Given the description of an element on the screen output the (x, y) to click on. 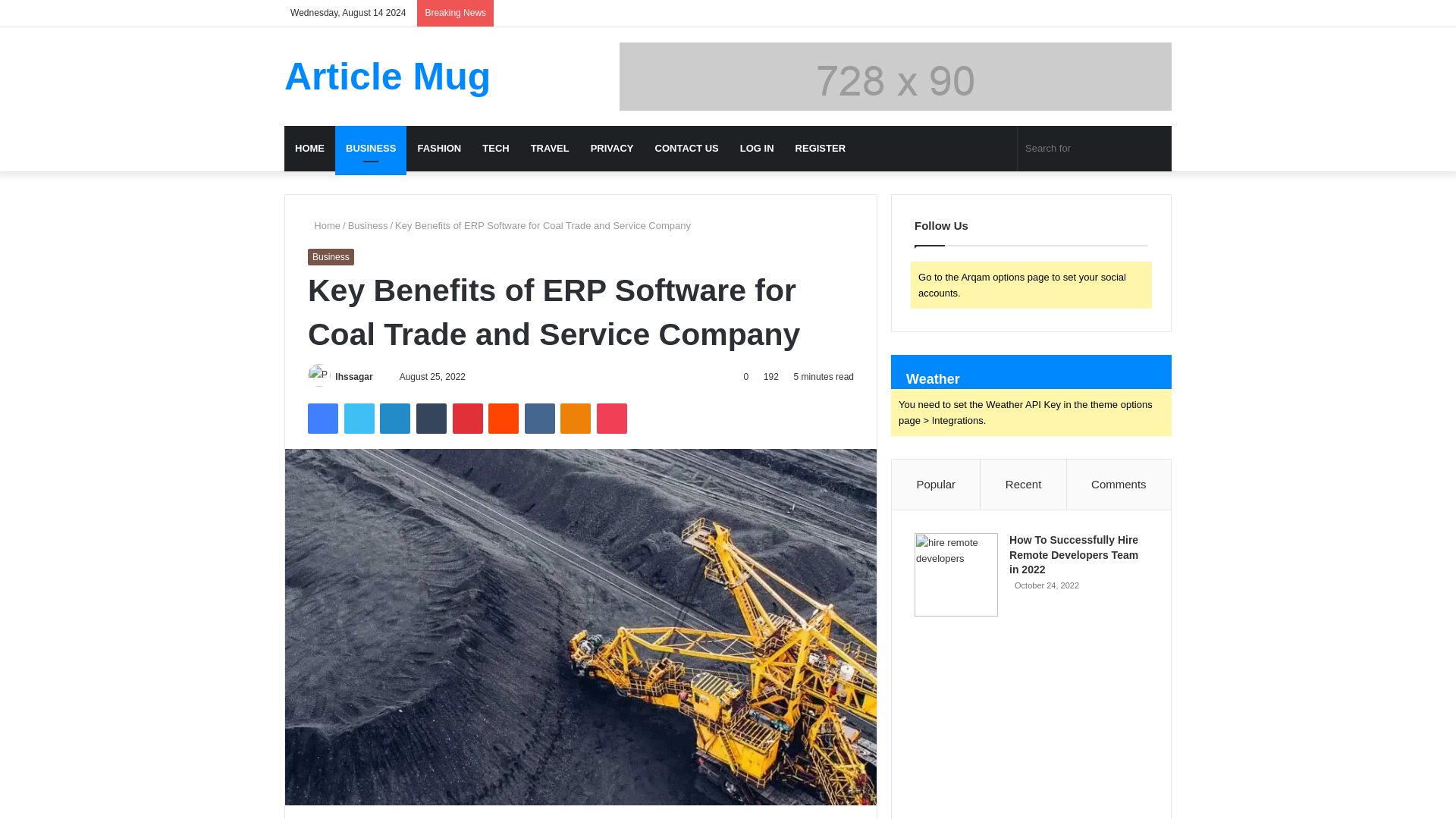
TECH (495, 148)
HOME (308, 148)
Article Mug (386, 76)
Random Article (1136, 6)
Random Article (1136, 6)
BUSINESS (370, 148)
CONTACT US (687, 148)
Log In (1114, 6)
PRIVACY (612, 148)
Sidebar (1160, 6)
